Given the description of an element on the screen output the (x, y) to click on. 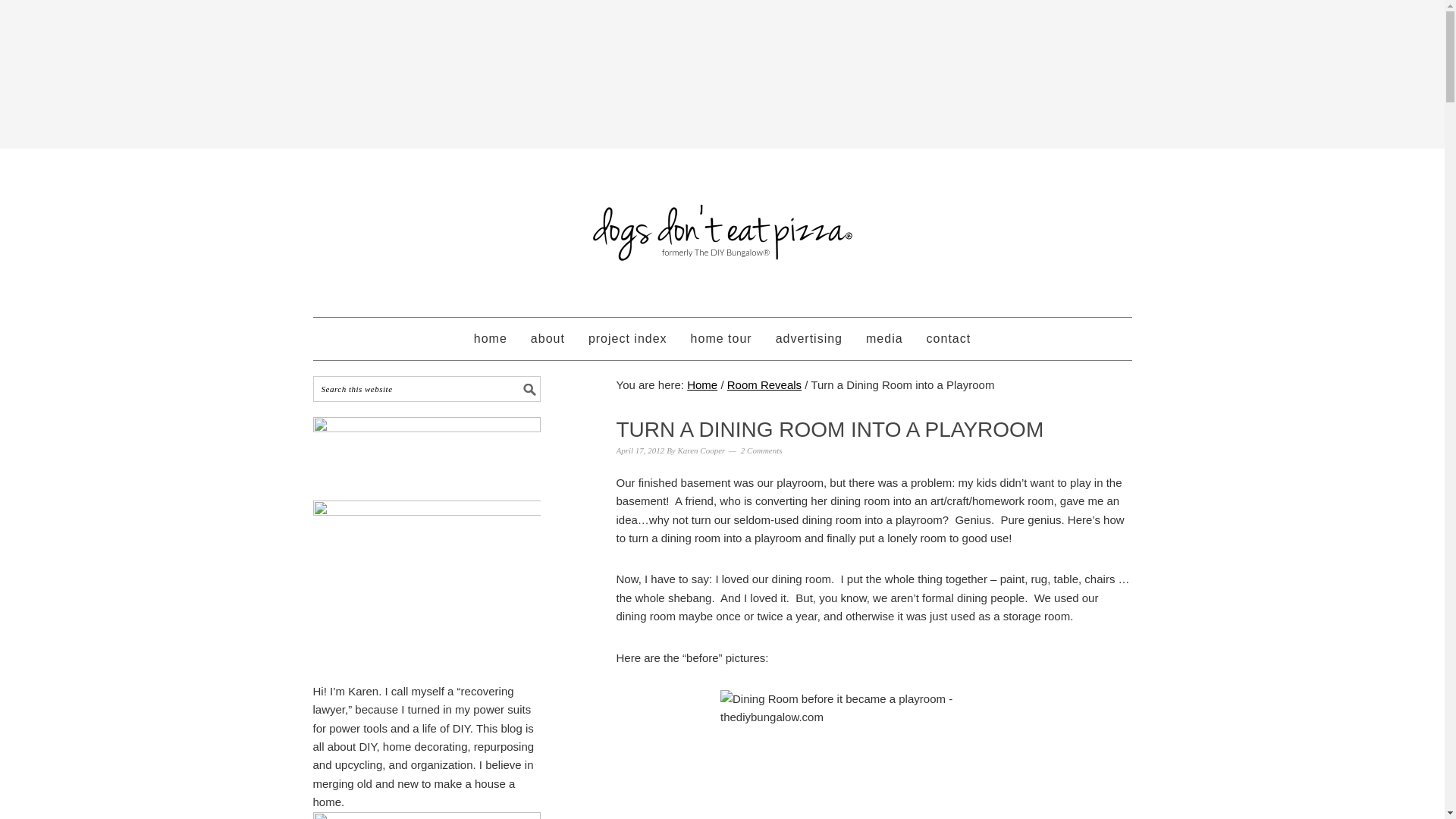
contact (948, 338)
home (490, 338)
Karen Cooper (701, 450)
media (884, 338)
about (547, 338)
DOGS DON'T EAT PIZZA (722, 225)
home tour (720, 338)
2 Comments (762, 450)
